Given the description of an element on the screen output the (x, y) to click on. 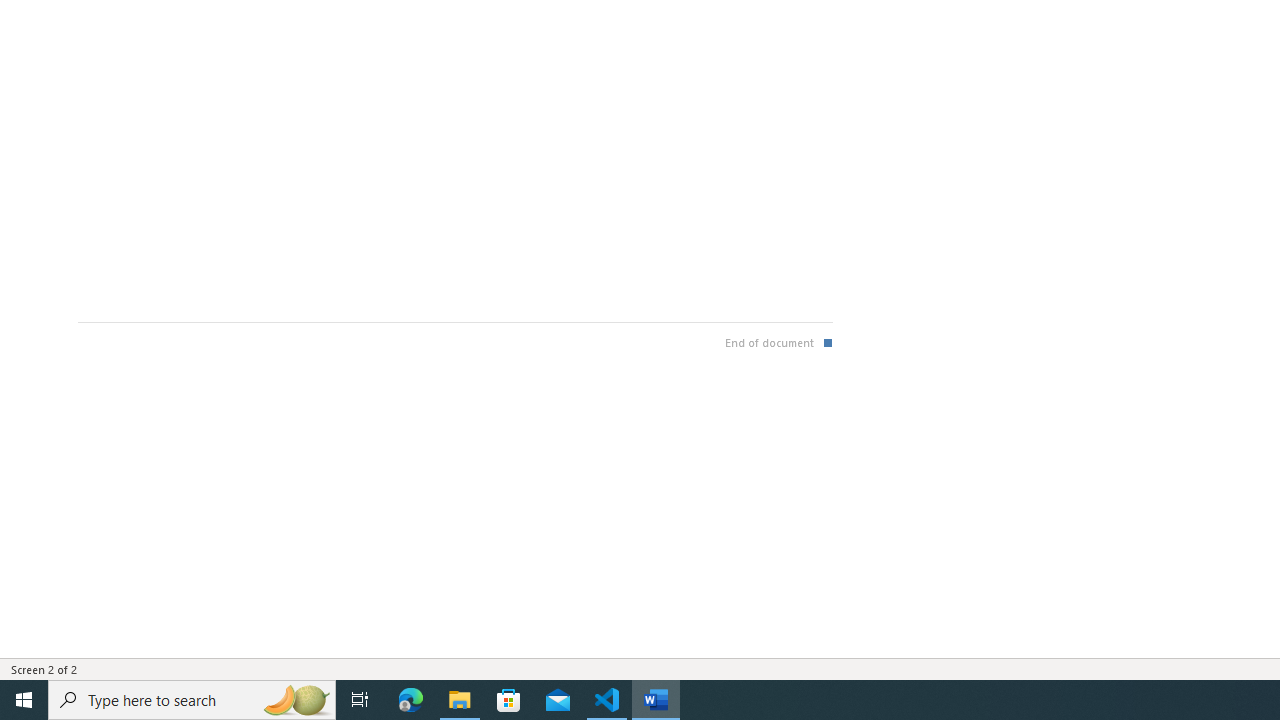
Page Number Screen 2 of 2  (44, 668)
